Given the description of an element on the screen output the (x, y) to click on. 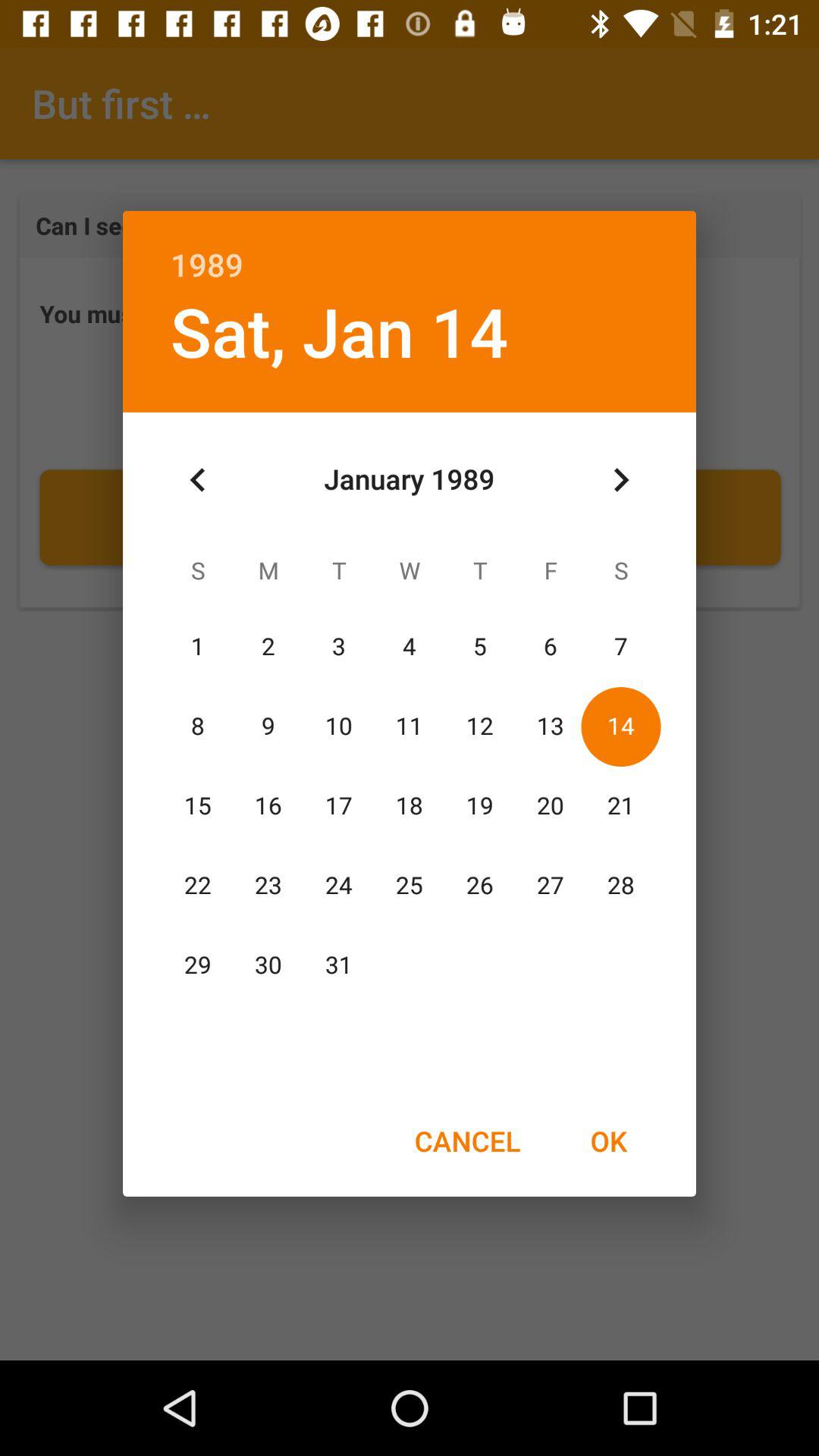
swipe to cancel item (467, 1140)
